Given the description of an element on the screen output the (x, y) to click on. 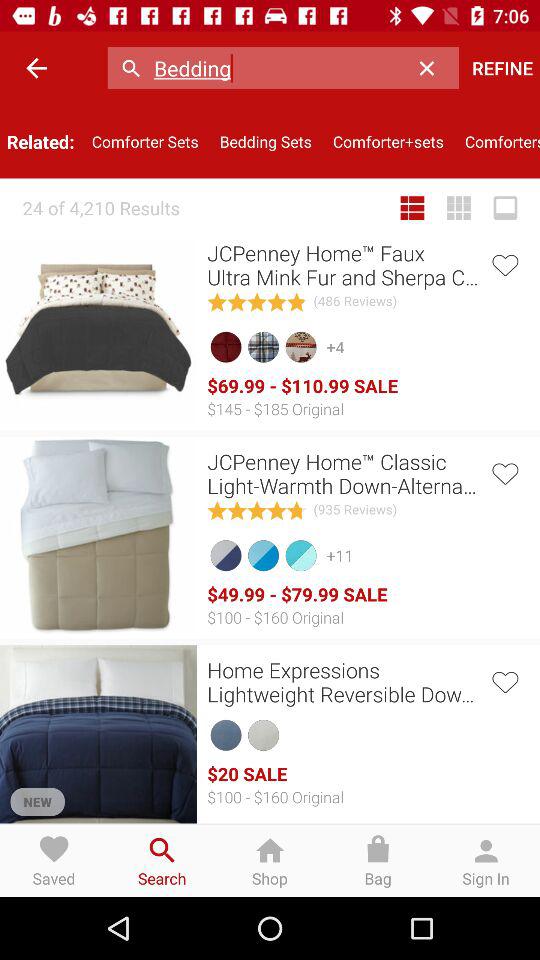
turn on item above comforters (502, 68)
